Given the description of an element on the screen output the (x, y) to click on. 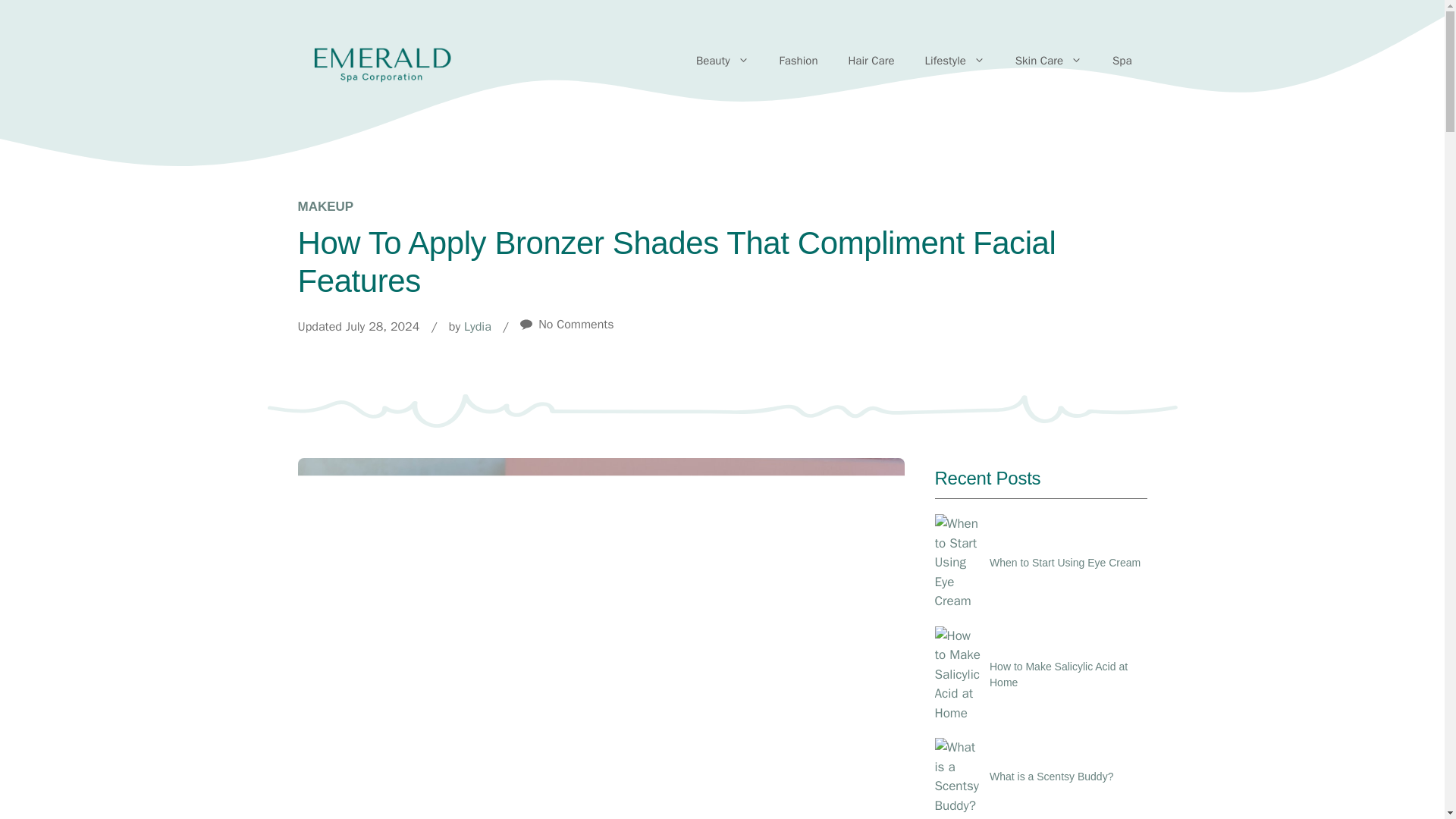
Skin Care (1048, 60)
Beauty (722, 60)
Lifestyle (955, 60)
MAKEUP (325, 206)
Fashion (798, 60)
Lydia (478, 326)
Spa (1122, 60)
Hair Care (870, 60)
